Given the description of an element on the screen output the (x, y) to click on. 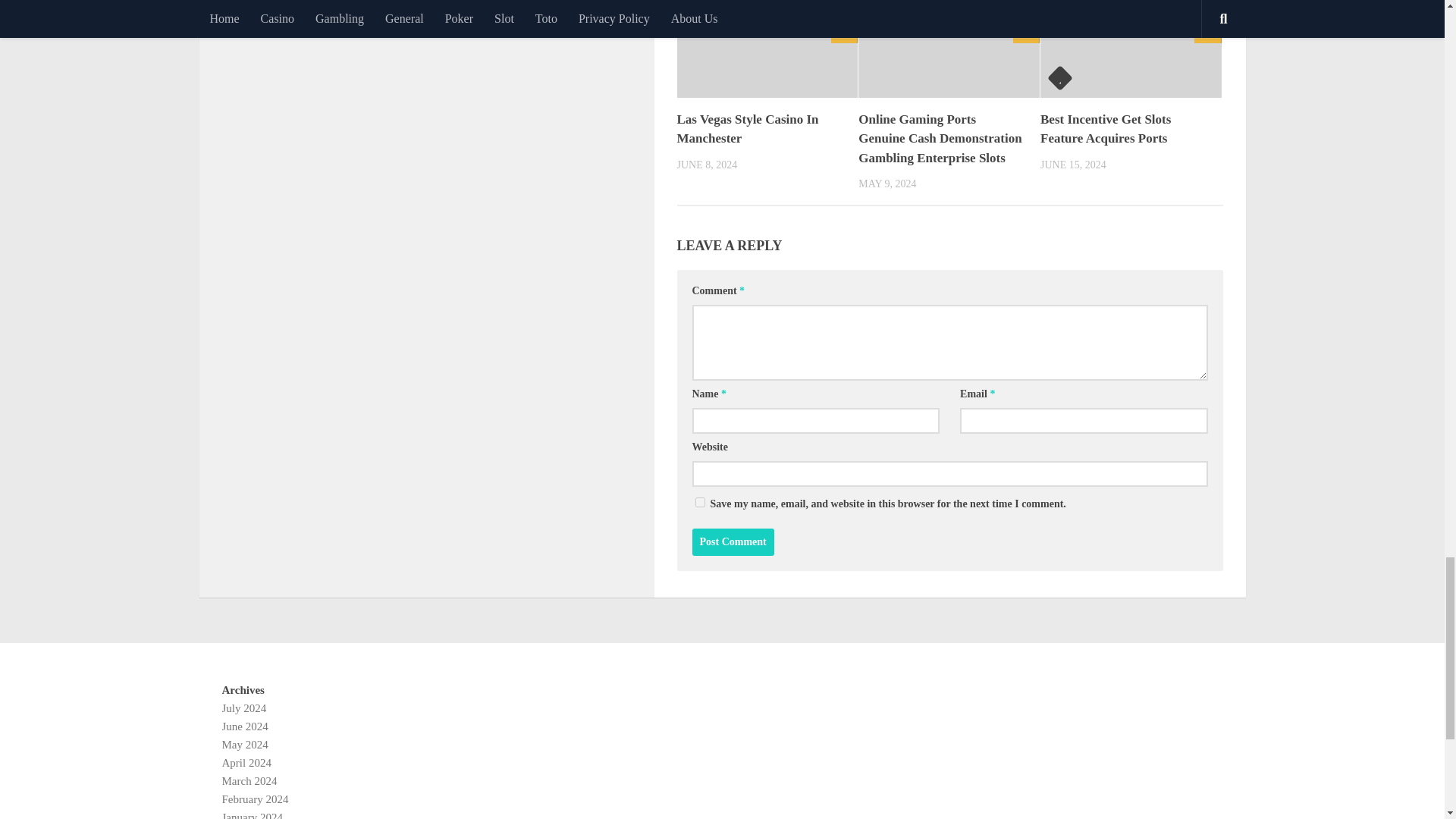
0 (844, 31)
yes (699, 501)
Post Comment (732, 542)
